Given the description of an element on the screen output the (x, y) to click on. 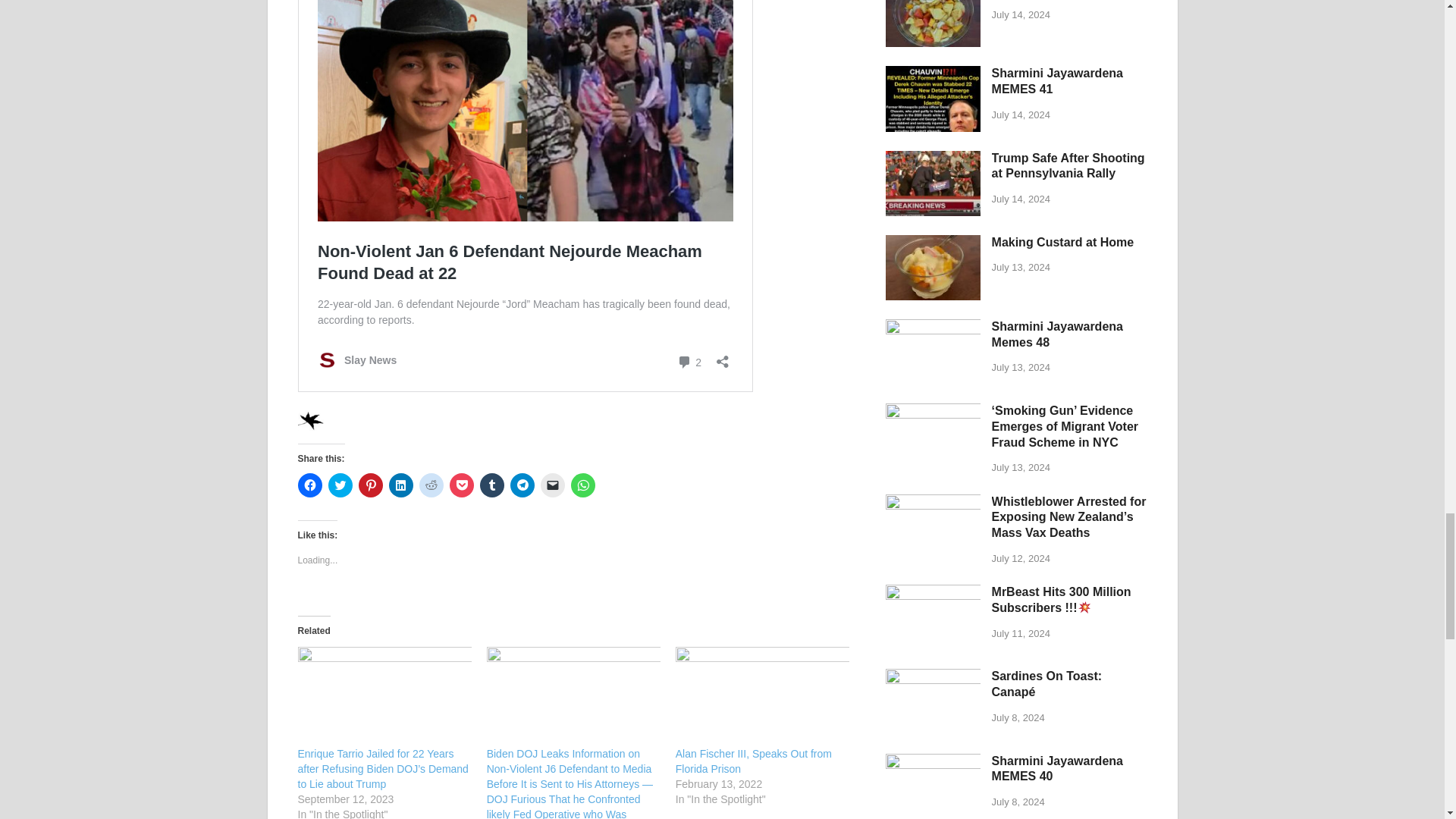
Click to share on Pocket (460, 485)
Click to email a link to a friend (552, 485)
Click to share on Facebook (309, 485)
Click to share on Reddit (430, 485)
Click to share on Twitter (339, 485)
Click to share on Pinterest (369, 485)
Click to share on Tumblr (491, 485)
Click to share on LinkedIn (400, 485)
Click to share on Telegram (521, 485)
Click to share on WhatsApp (582, 485)
